Given the description of an element on the screen output the (x, y) to click on. 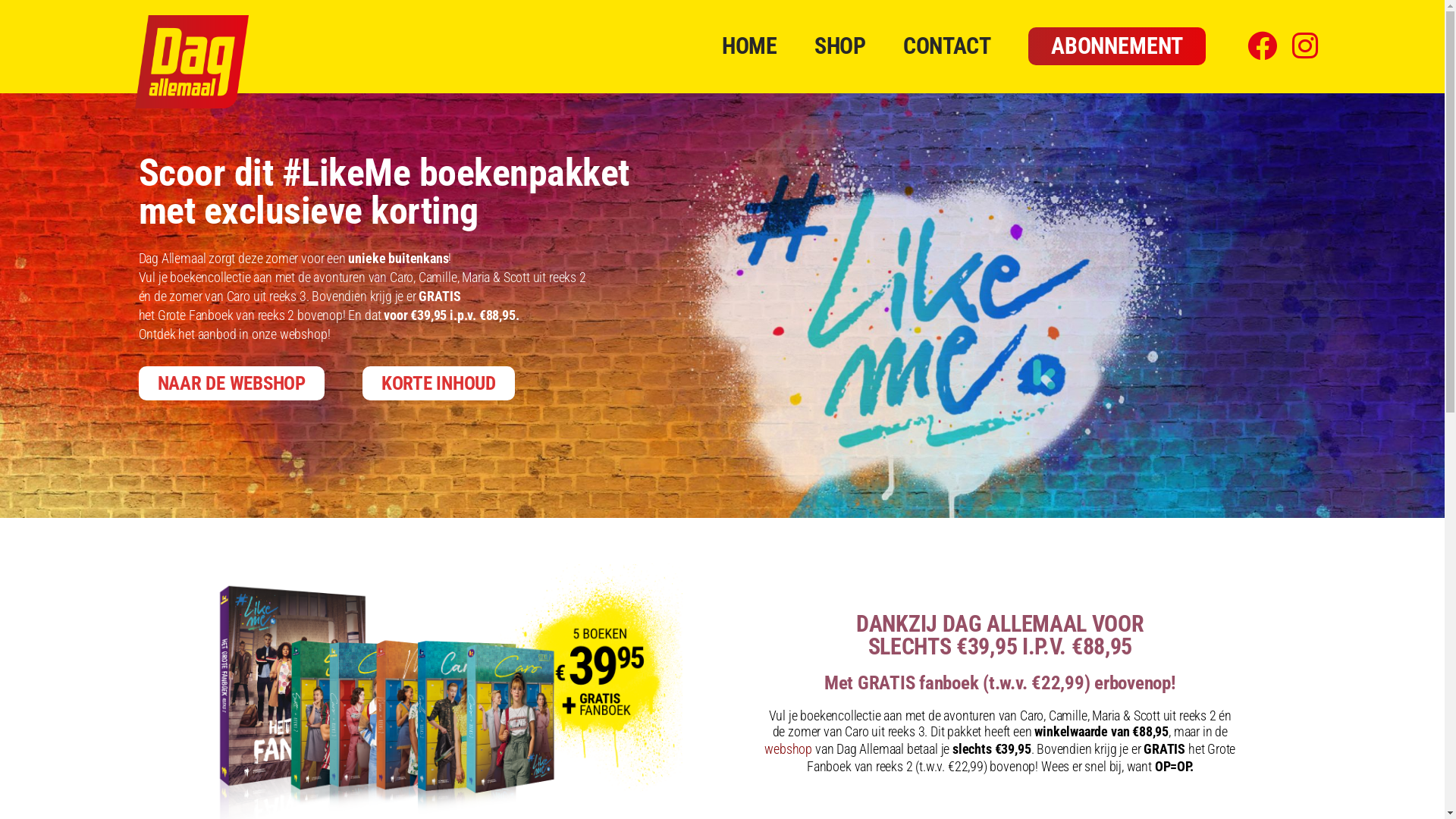
KORTE INHOUD Element type: text (438, 383)
SHOP Element type: text (840, 45)
CONTACT Element type: text (947, 45)
HOME Element type: text (749, 45)
NAAR DE WEBSHOP Element type: text (230, 383)
webshop Element type: text (788, 748)
ABONNEMENT Element type: text (1116, 46)
